Given the description of an element on the screen output the (x, y) to click on. 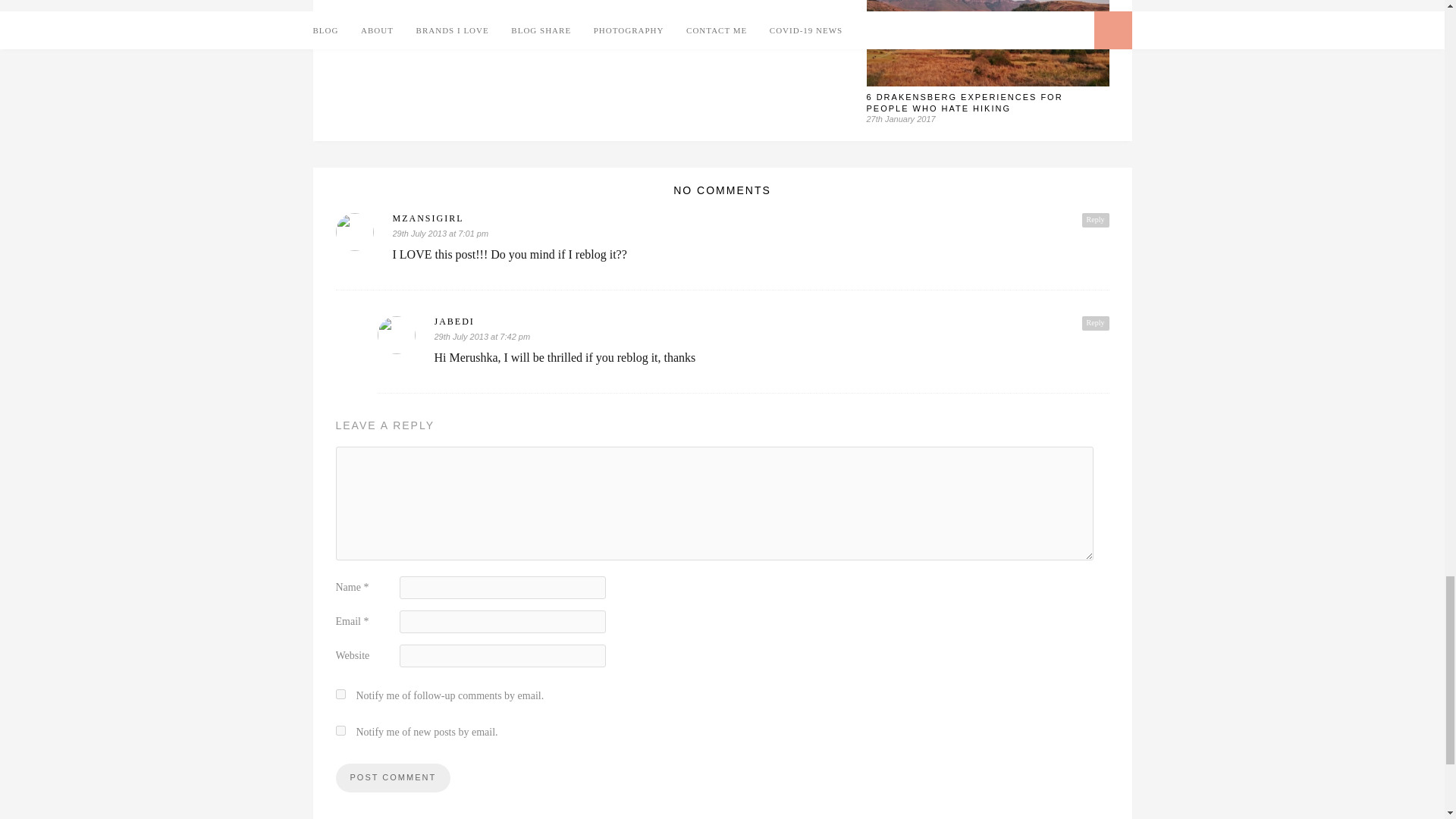
subscribe (339, 694)
subscribe (339, 730)
Post Comment (391, 777)
